Given the description of an element on the screen output the (x, y) to click on. 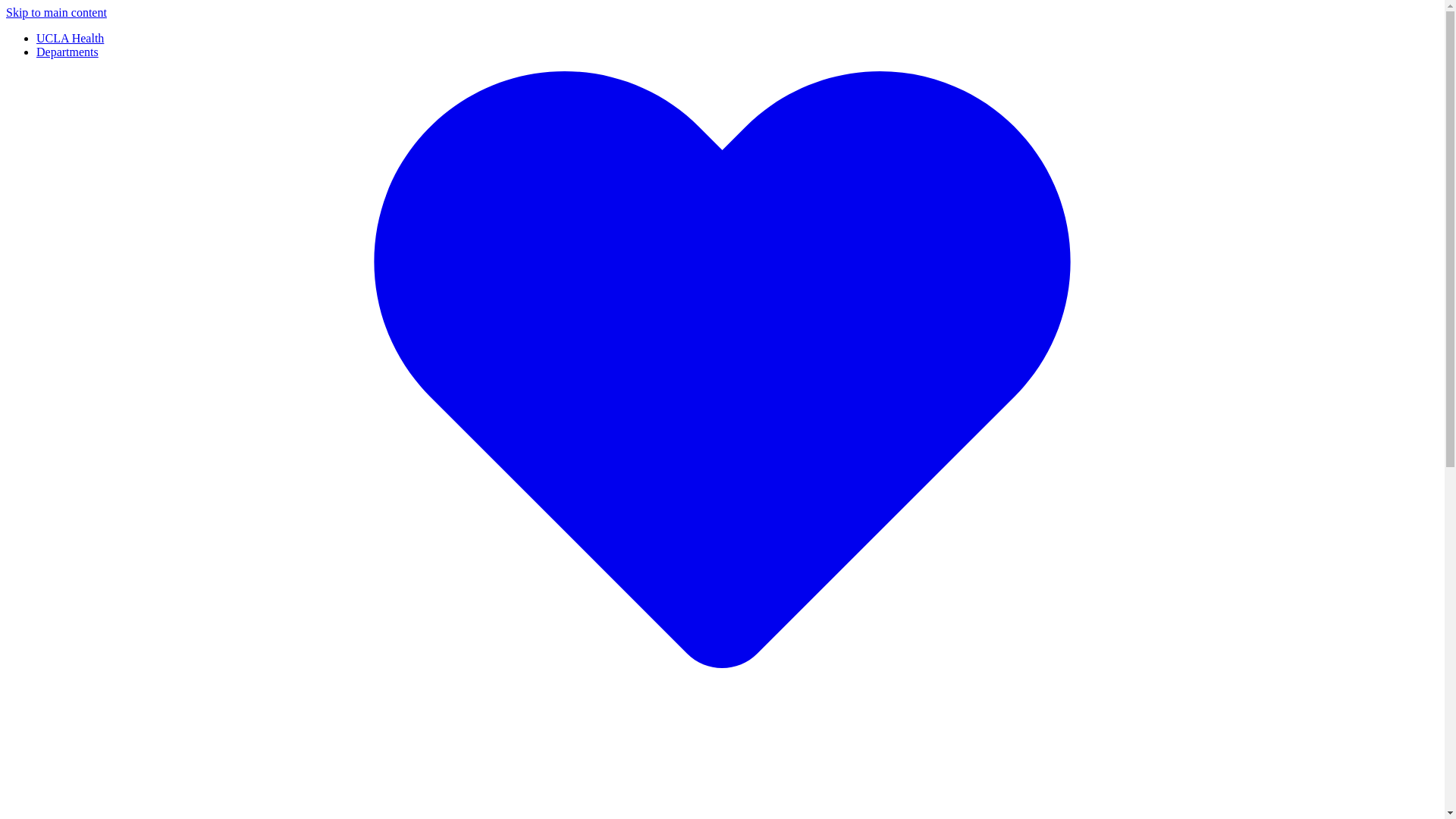
UCLA Health (69, 38)
Skip to main content (55, 11)
Departments (67, 51)
